Given the description of an element on the screen output the (x, y) to click on. 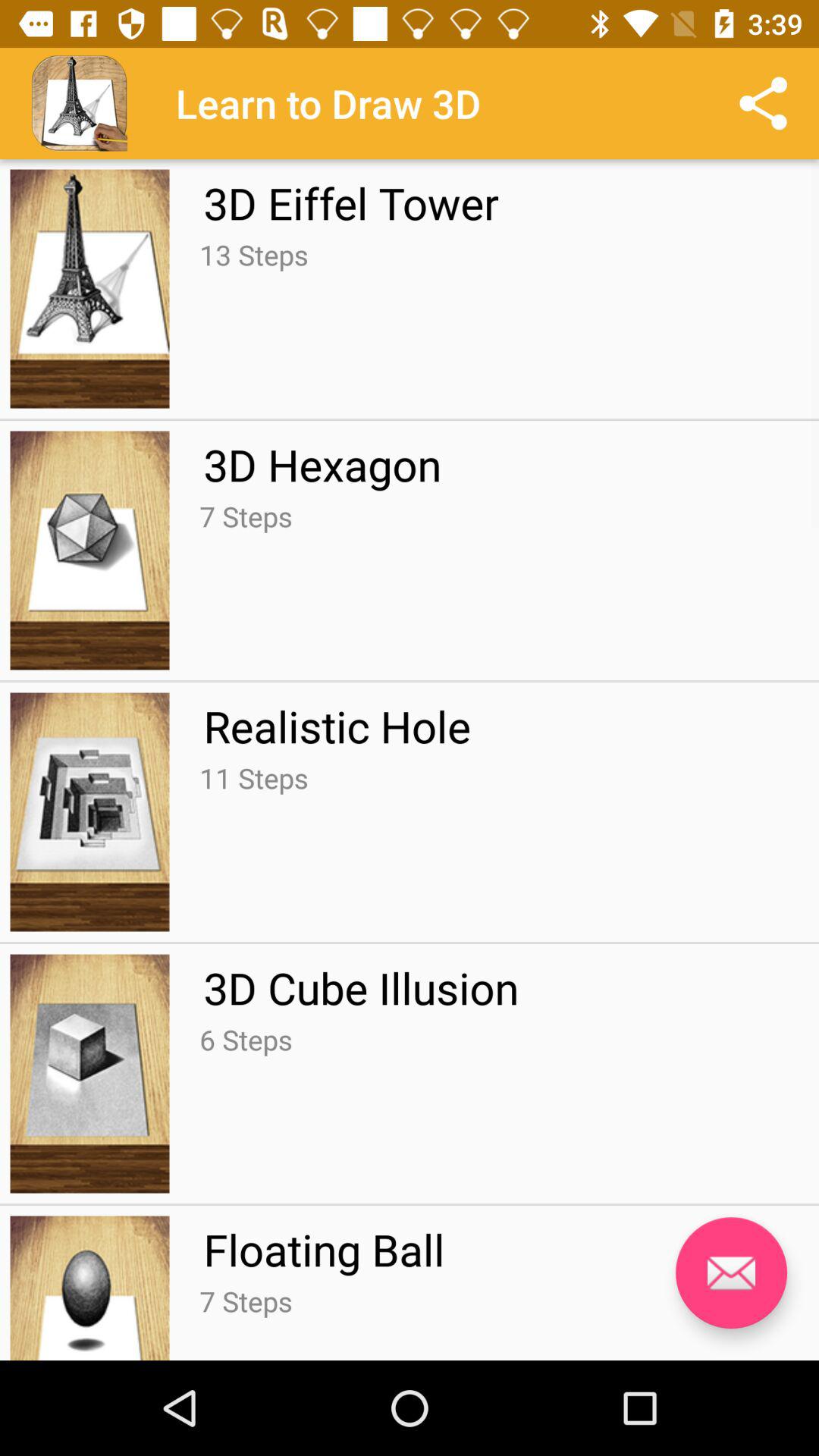
flip to the 3d cube illusion app (360, 987)
